Given the description of an element on the screen output the (x, y) to click on. 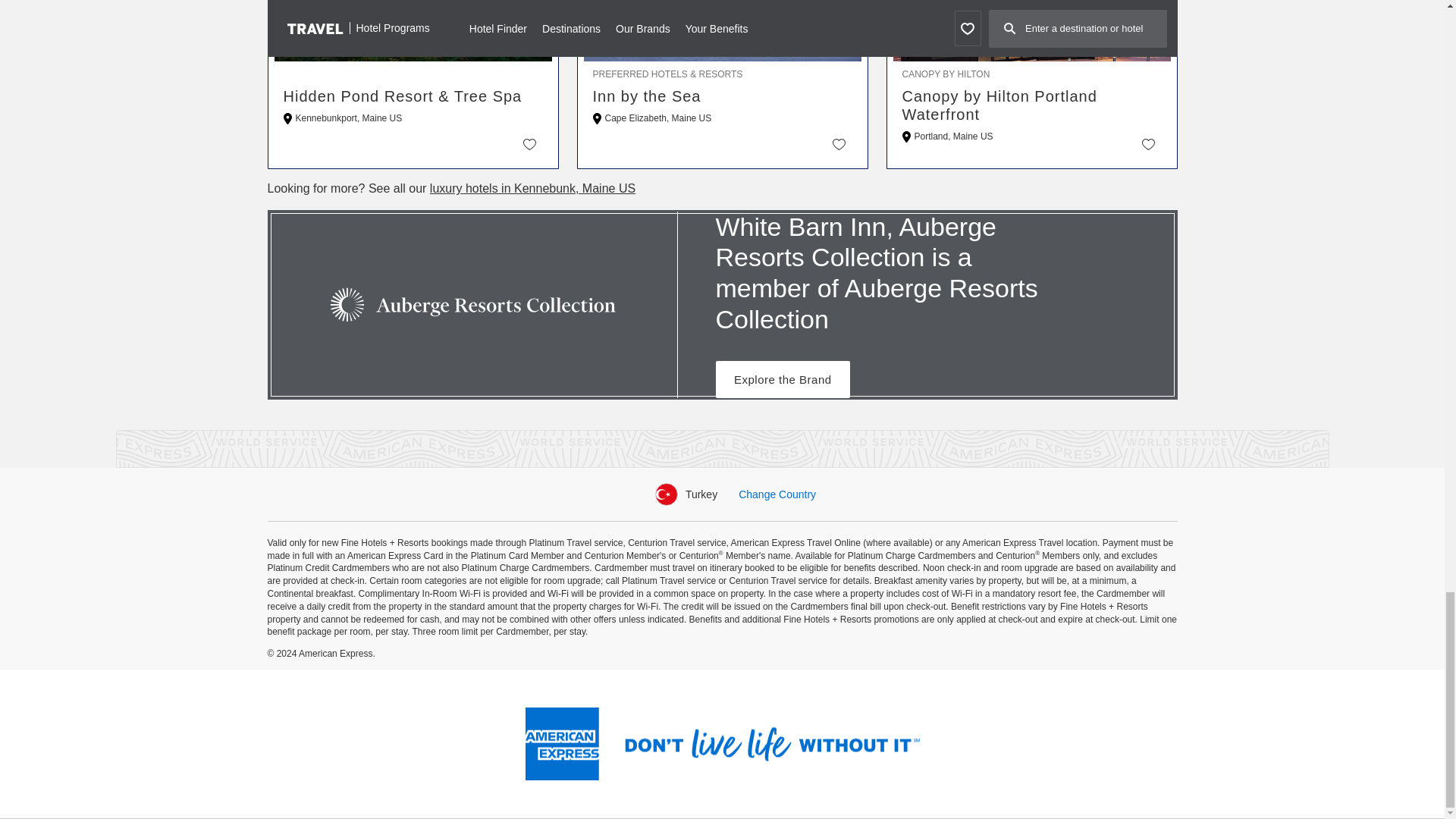
Inn by the Sea (721, 95)
luxury hotels in Kennebunk, Maine US (531, 187)
Change Country (776, 494)
Canopy by Hilton Portland Waterfront (1031, 104)
Explore the Brand (783, 379)
